Given the description of an element on the screen output the (x, y) to click on. 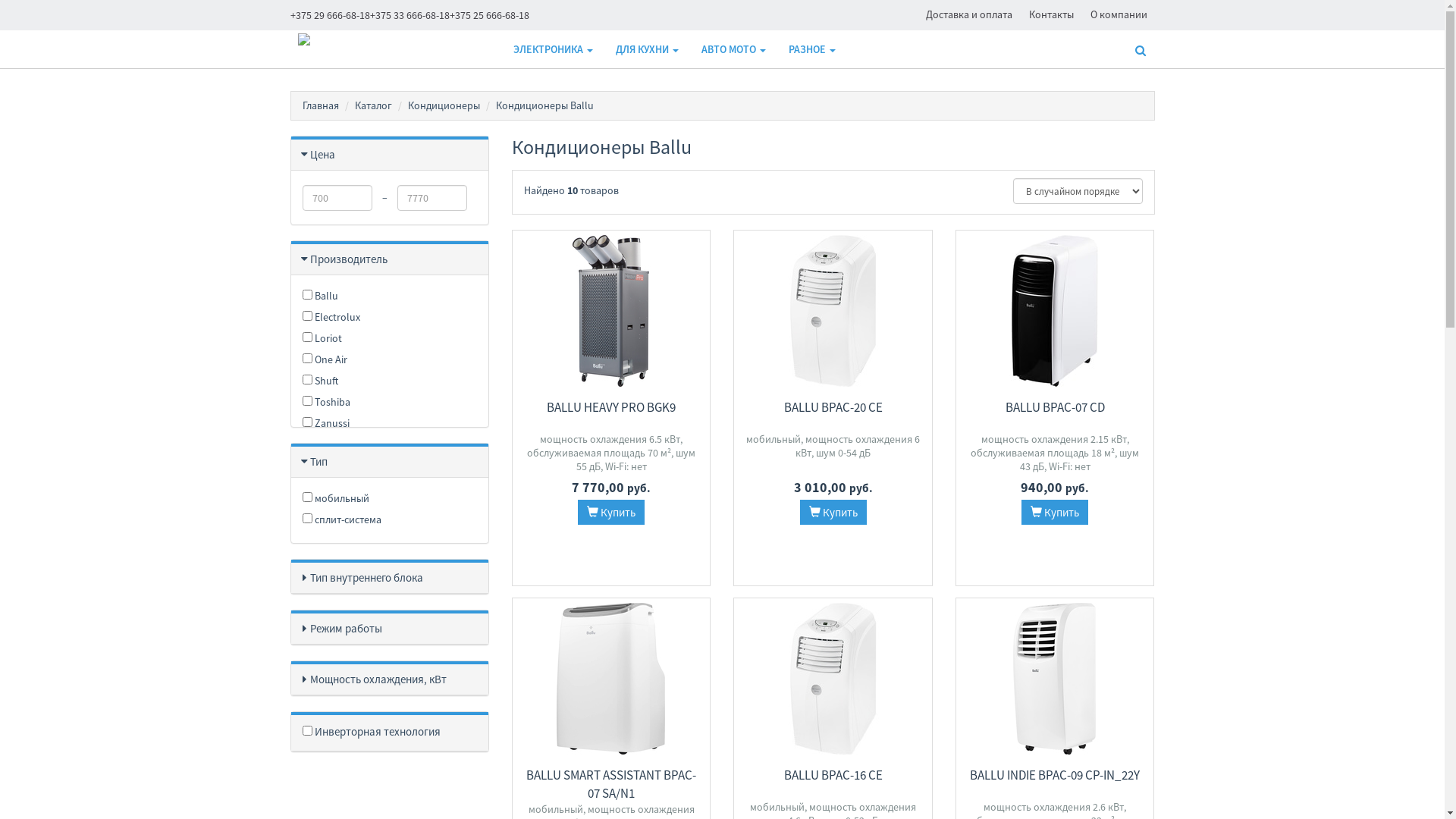
BALLU BPAC-20 CE Element type: text (833, 406)
+375 29 666-68-18 Element type: text (329, 14)
BALLU SMART ASSISTANT BPAC-07 SA/N1 Element type: text (611, 783)
BALLU HEAVY PRO BGK9 Element type: text (610, 406)
BALLU BPAC-07 CD Element type: text (1054, 406)
+375 33 666-68-18 Element type: text (409, 14)
BALLU INDIE BPAC-09 CP-IN_22Y Element type: text (1054, 774)
+375 25 666-68-18 Element type: text (488, 14)
BALLU BPAC-16 CE Element type: text (833, 774)
